Given the description of an element on the screen output the (x, y) to click on. 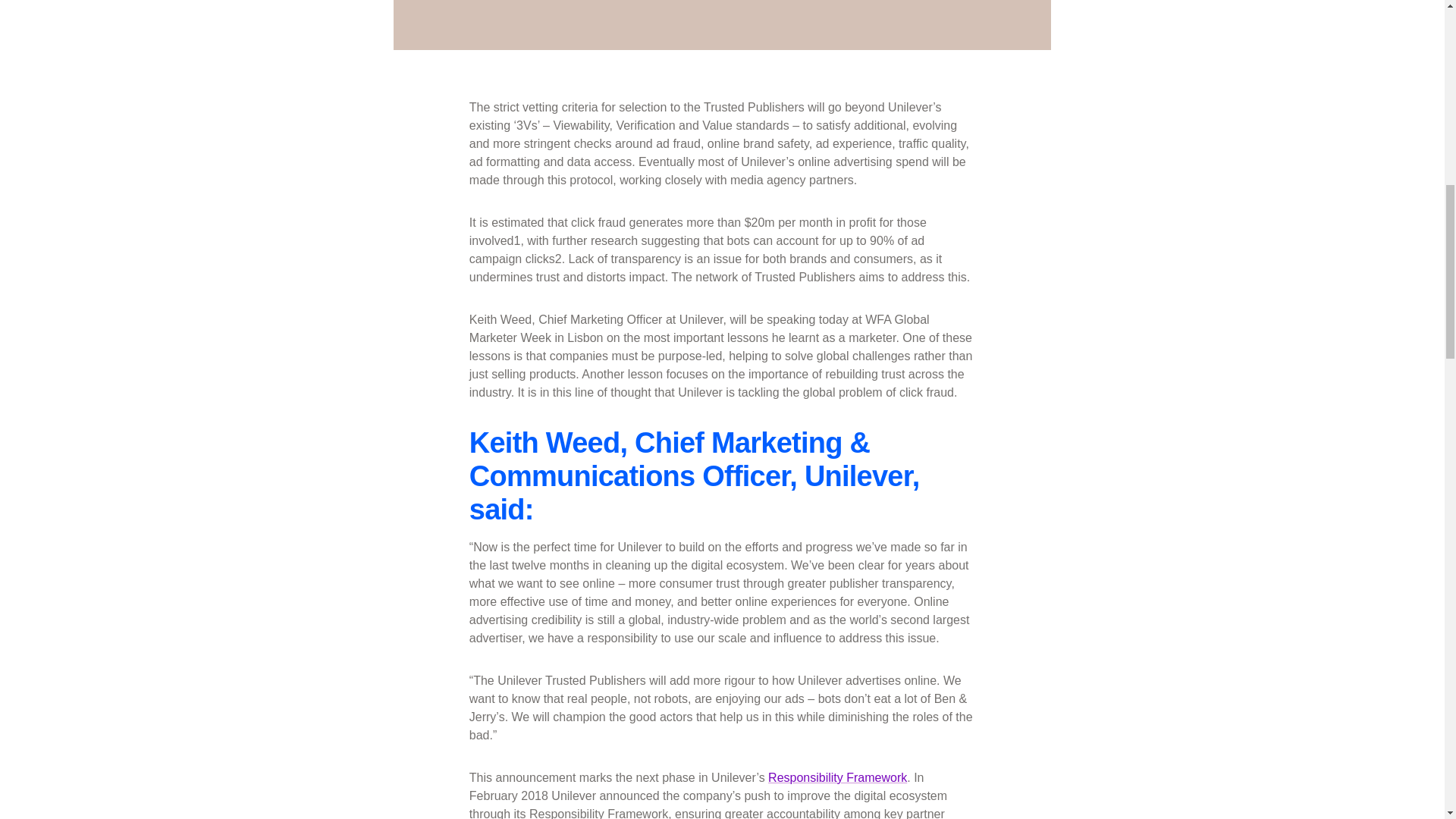
Responsibility Framework (837, 777)
